Given the description of an element on the screen output the (x, y) to click on. 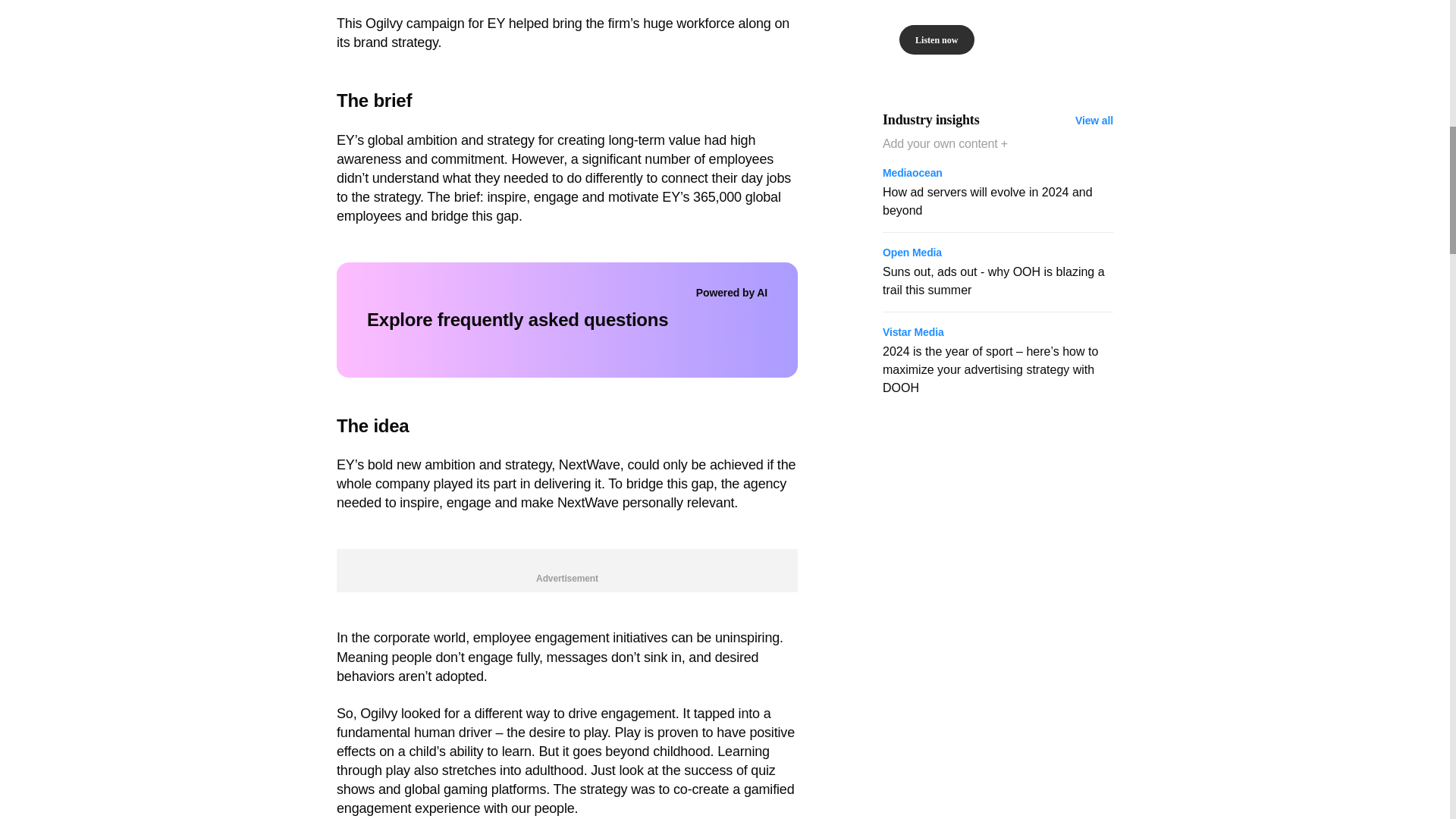
3rd party ad content (997, 37)
